Given the description of an element on the screen output the (x, y) to click on. 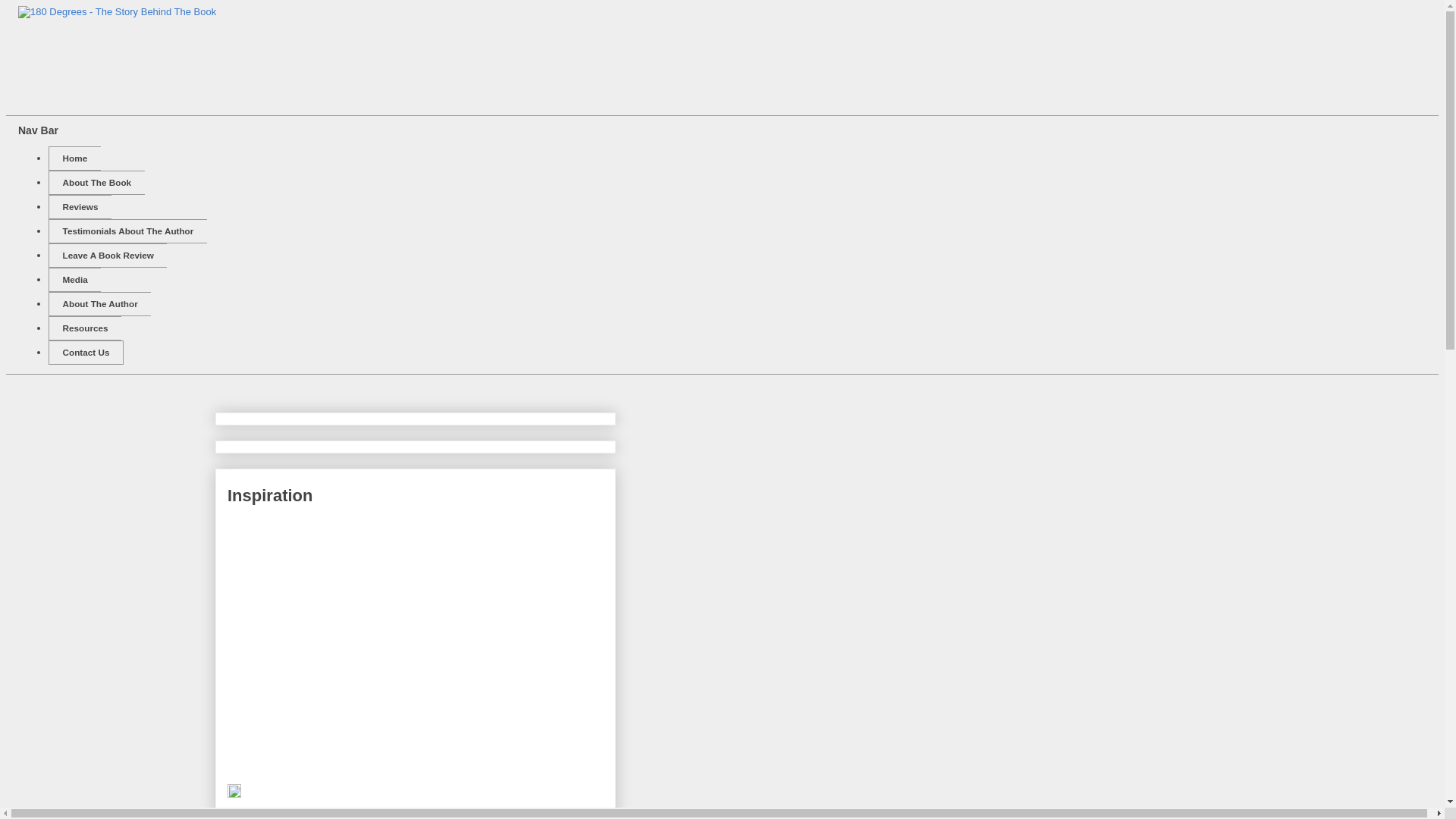
Leave A Book Review Element type: text (107, 255)
Contact Us Element type: text (85, 352)
Home Element type: text (74, 158)
Reviews Element type: text (79, 206)
About The Author Element type: text (99, 303)
About The Book Element type: text (96, 182)
Edit Post Element type: hover (234, 794)
Media Element type: text (74, 279)
Testimonials About The Author Element type: text (127, 231)
Resources Element type: text (84, 328)
